Given the description of an element on the screen output the (x, y) to click on. 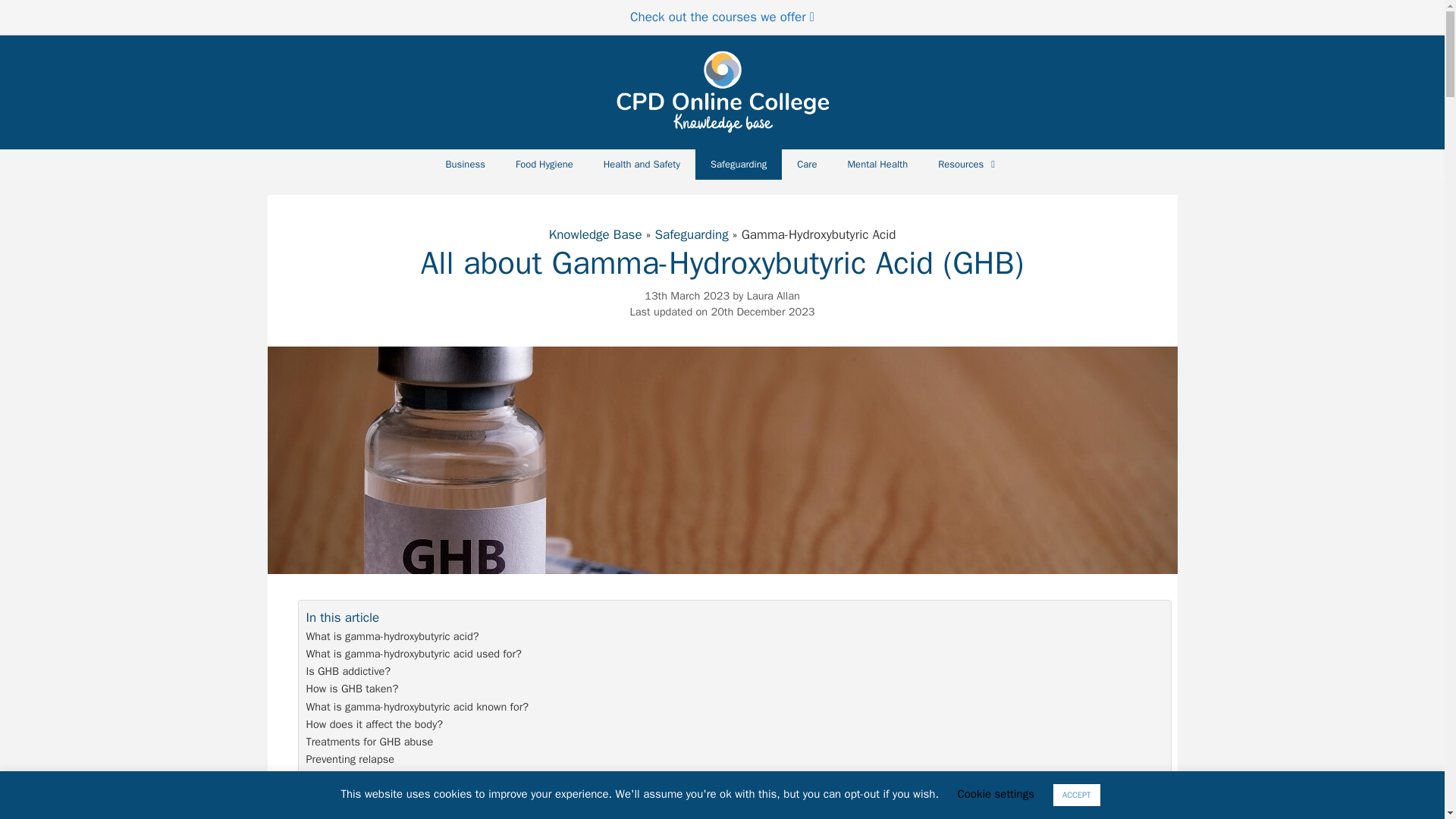
April 2022 (341, 813)
Preventing relapse (349, 759)
Check out the courses we offer (721, 17)
Is GHB addictive? (348, 671)
What is gamma-hydroxybutyric acid used for? (413, 653)
What is gamma-hydroxybutyric acid known for? (417, 706)
Knowledge Base (595, 234)
Safeguarding (738, 164)
How does it affect the body?  (374, 724)
Preventing relapse (349, 759)
Class C rating (962, 813)
Final thoughts on Gamma-hydroxybutyric acid  (413, 776)
What is gamma-hydroxybutyric acid? (392, 636)
How does it affect the body? (374, 724)
What is gamma-hydroxybutyric acid? (392, 636)
